Given the description of an element on the screen output the (x, y) to click on. 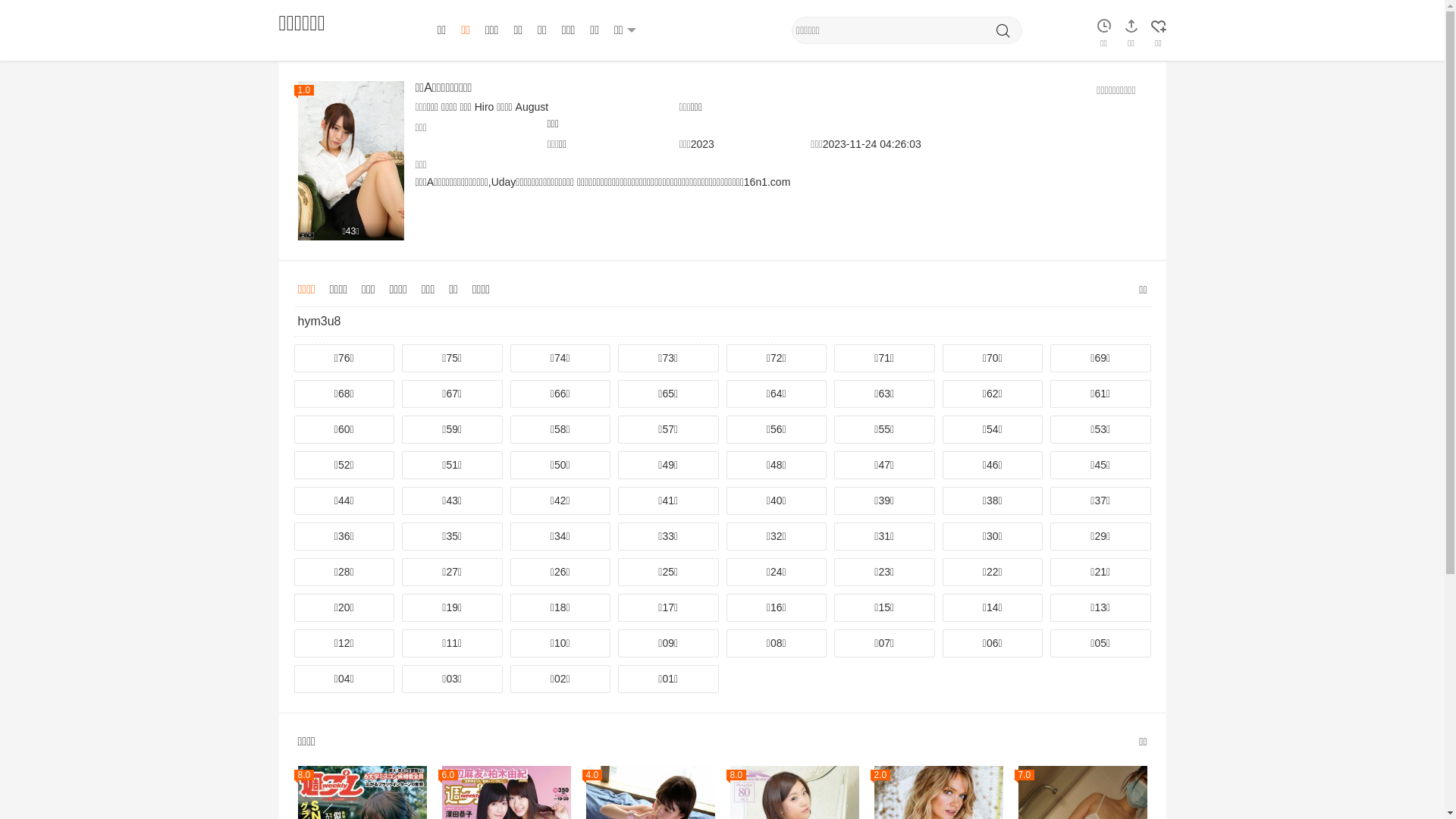
2023 Element type: text (702, 144)
August Element type: text (532, 106)
Hiro Element type: text (484, 106)
